Given the description of an element on the screen output the (x, y) to click on. 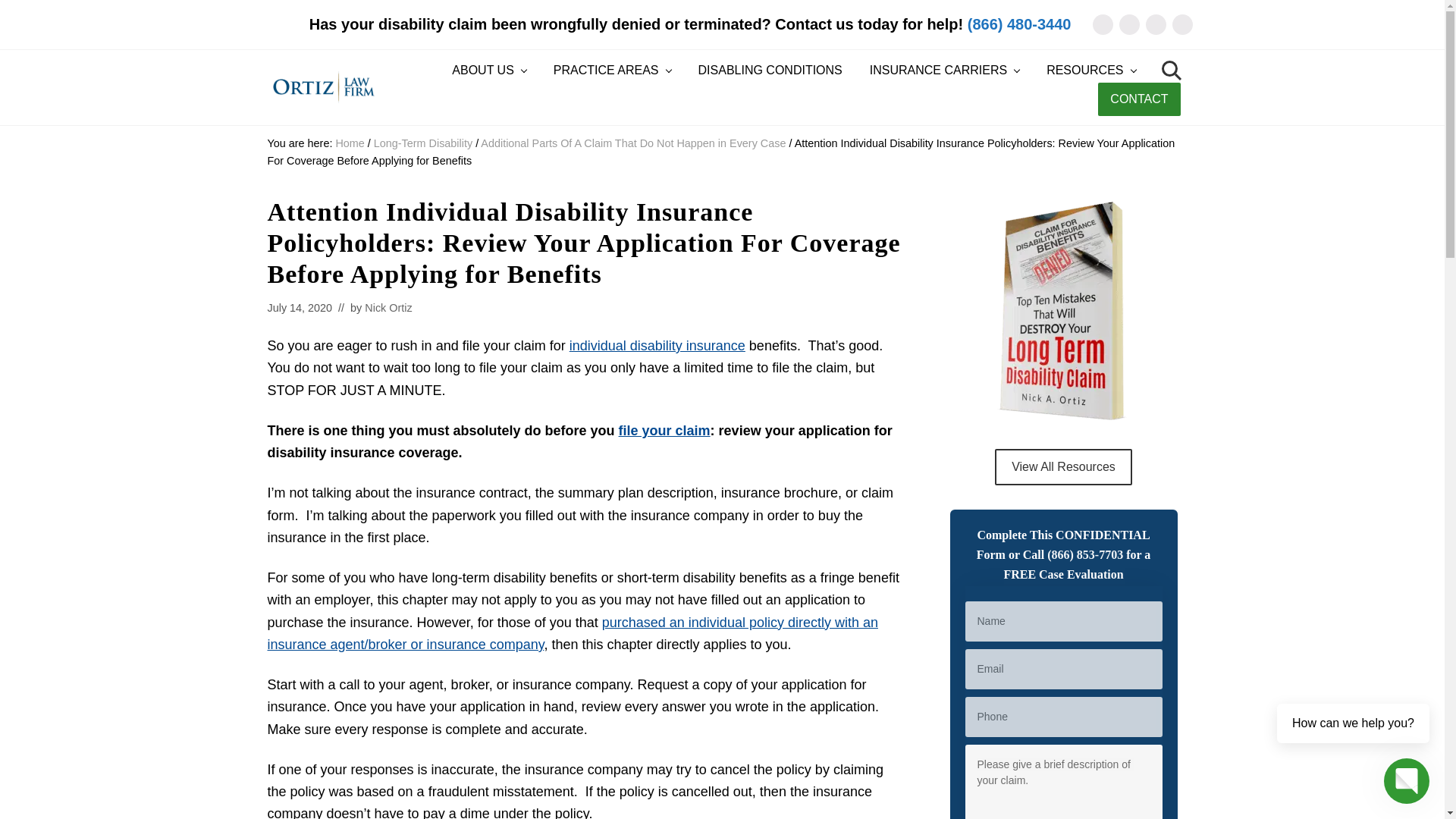
LinkedIn (1155, 24)
INSURANCE CARRIERS (943, 70)
ABOUT US (488, 70)
LinkedIn (1155, 24)
DISABLING CONDITIONS (769, 70)
Email (1102, 24)
Email (1102, 24)
YouTube (1182, 24)
Facebook (1129, 24)
